Given the description of an element on the screen output the (x, y) to click on. 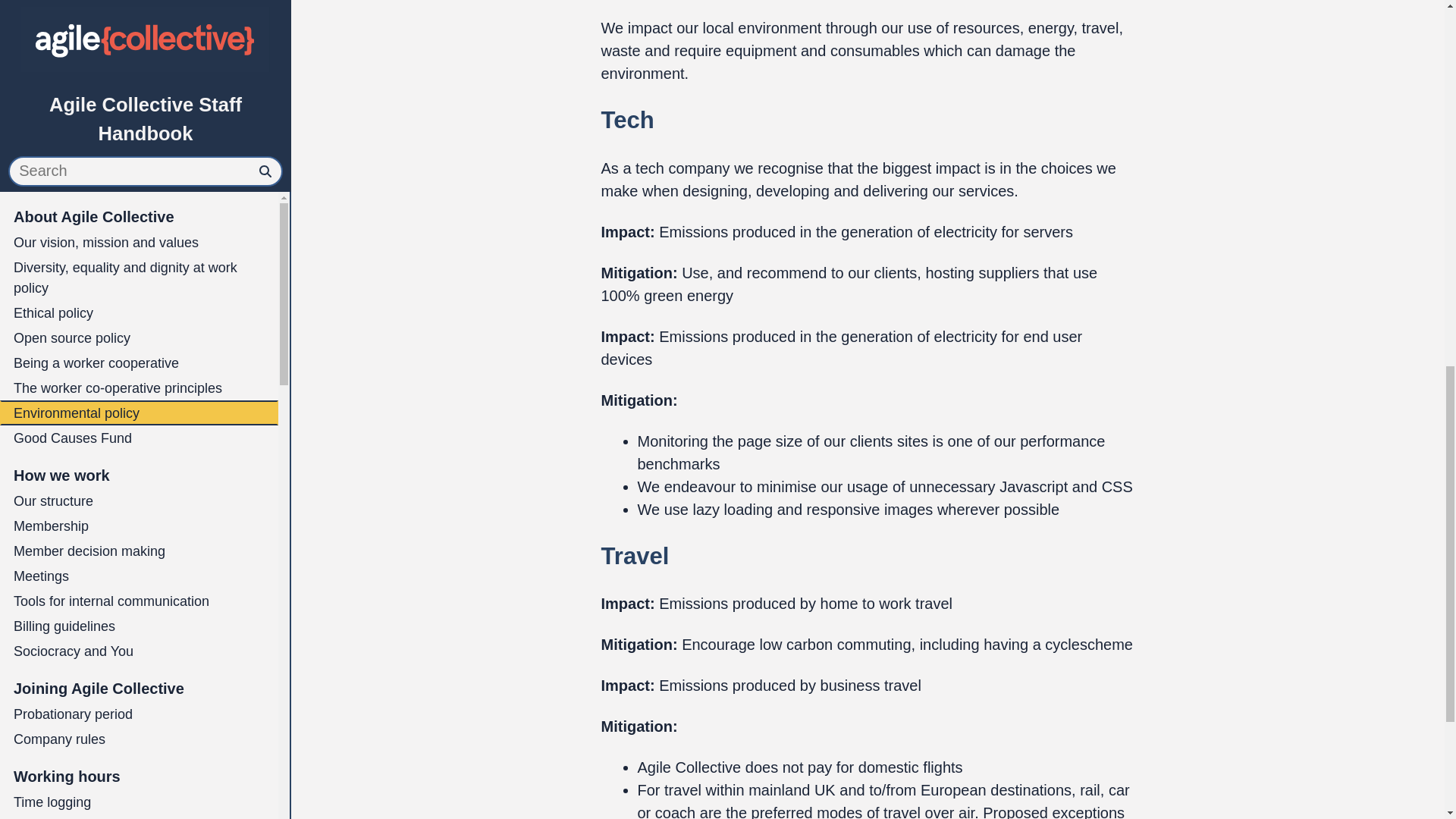
Personal development OKRs (139, 243)
Time logging examples (139, 82)
Overtime and holiday process (139, 32)
Training and personal development (139, 150)
Training and personal development (139, 193)
Absence and sickness (139, 331)
Time off (139, 275)
Unlimited training budget (139, 218)
Temporarily working abroad (139, 107)
Contracted hours (139, 57)
